Given the description of an element on the screen output the (x, y) to click on. 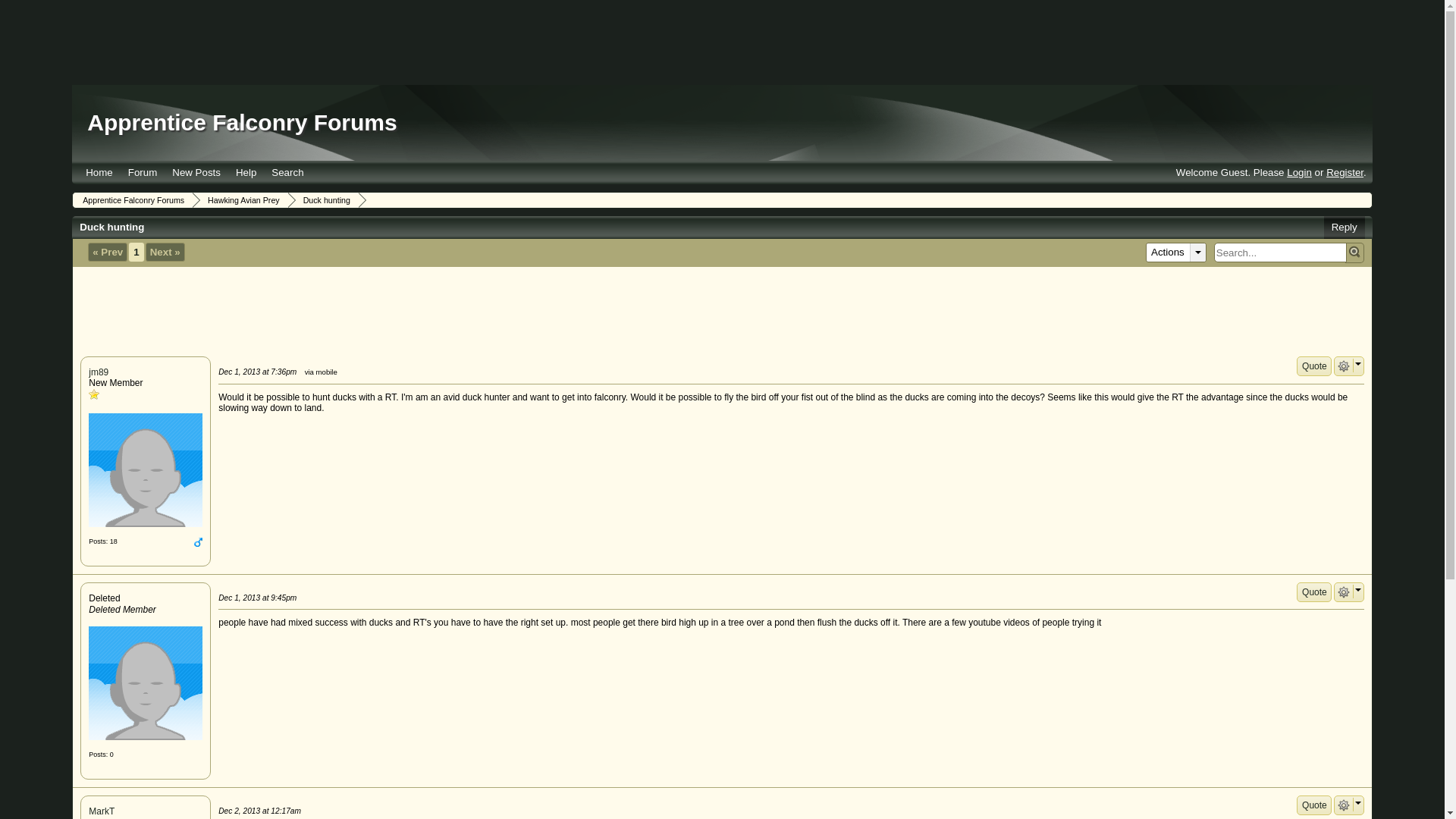
Hawking Avian Prey (241, 200)
Post Options (1343, 366)
New Posts (196, 172)
Forum (142, 172)
Apprentice Falconry Forums (241, 122)
Deleted (145, 683)
Login (1299, 172)
Home (99, 172)
Register (1344, 172)
Male (197, 542)
Duck hunting (325, 200)
Help (245, 172)
Post Options (1343, 805)
Post Options (1343, 592)
